Given the description of an element on the screen output the (x, y) to click on. 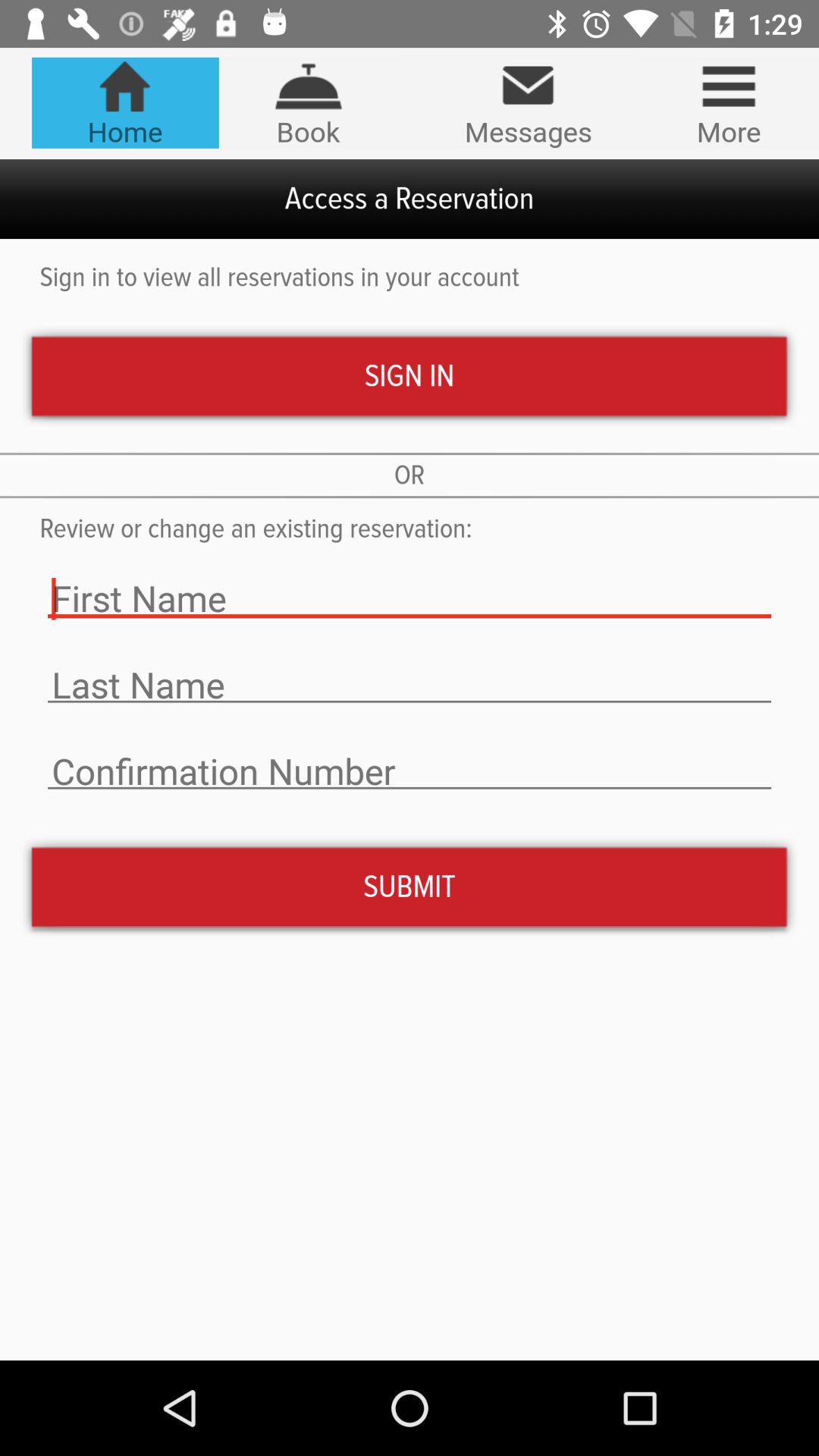
open icon to the left of the more (528, 103)
